Given the description of an element on the screen output the (x, y) to click on. 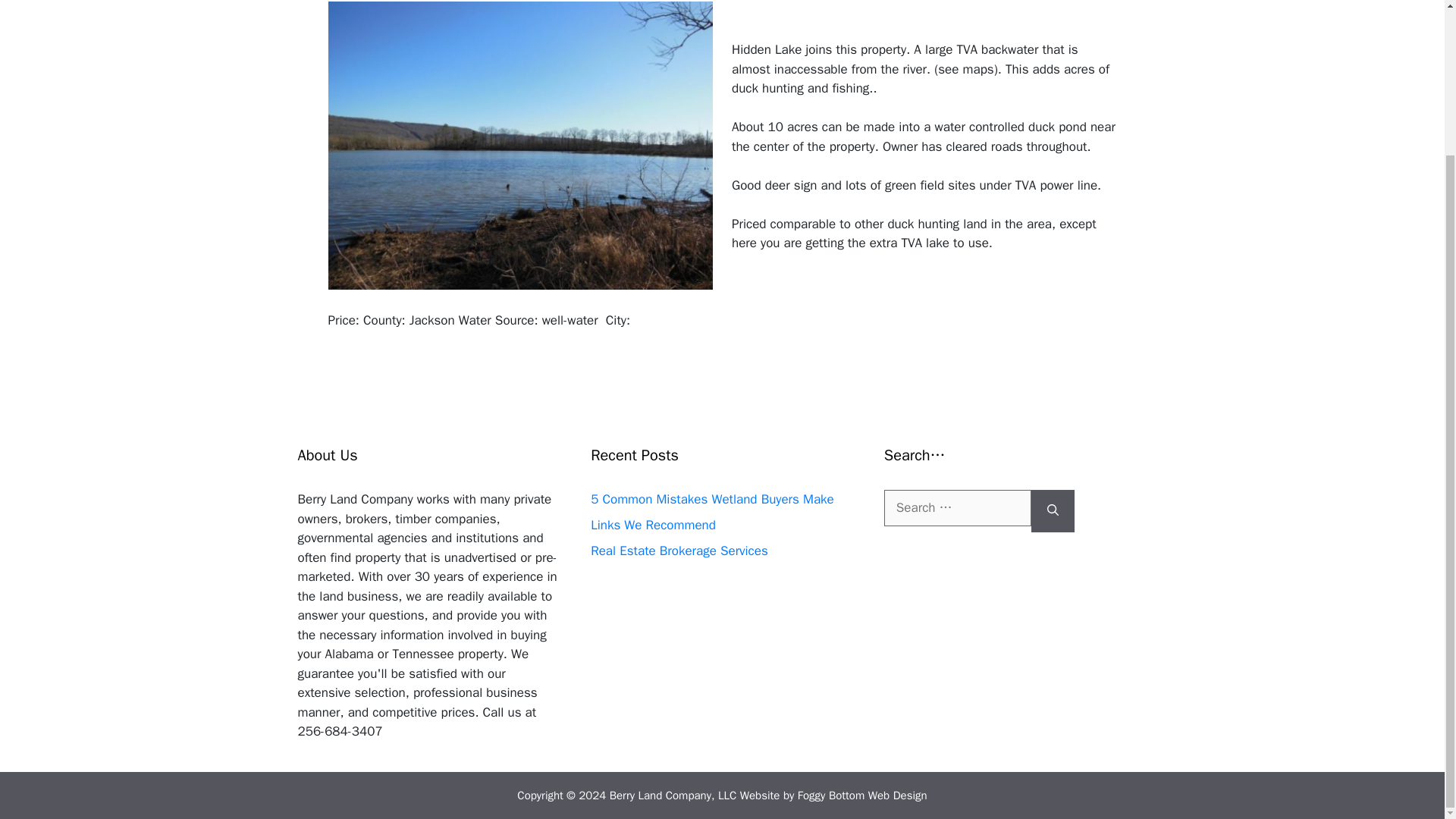
Links We Recommend (653, 524)
5 Common Mistakes Wetland Buyers Make (712, 498)
Foggy Bottom Web Design (862, 794)
Real Estate Brokerage Services (679, 550)
Search for: (956, 507)
